Given the description of an element on the screen output the (x, y) to click on. 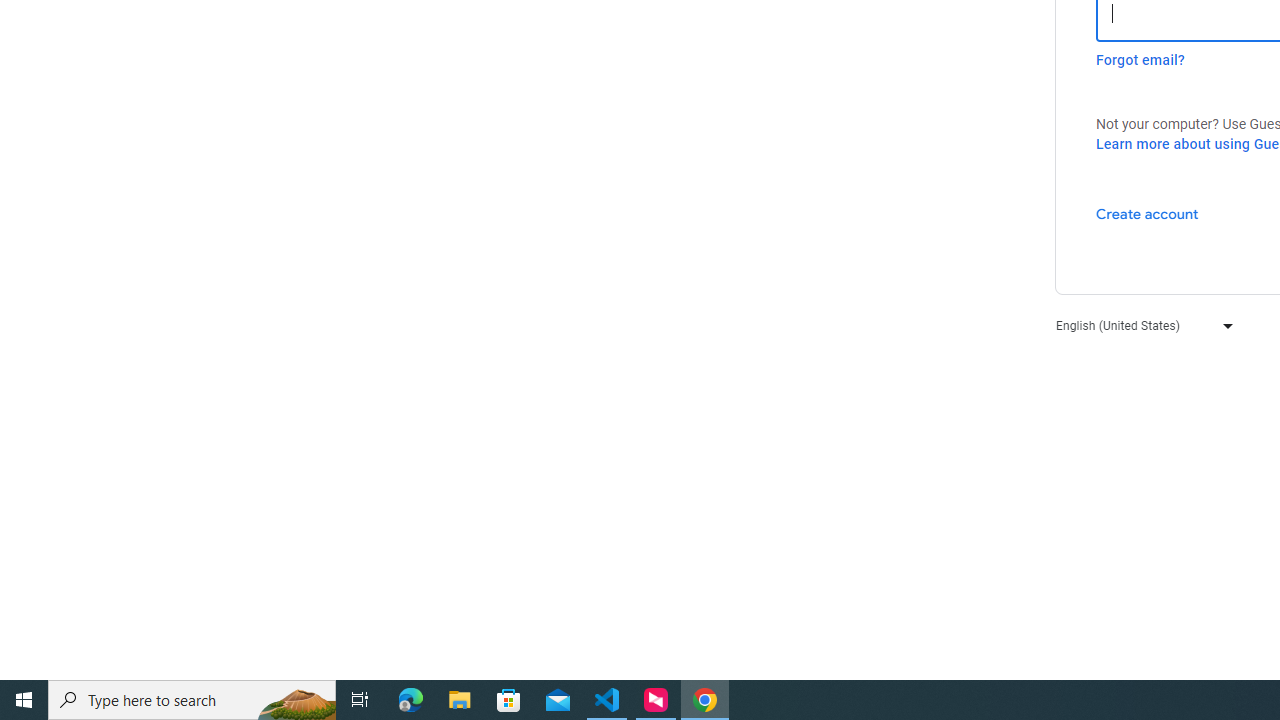
Forgot email? (1140, 59)
Create account (1146, 213)
English (United States) (1139, 324)
